Given the description of an element on the screen output the (x, y) to click on. 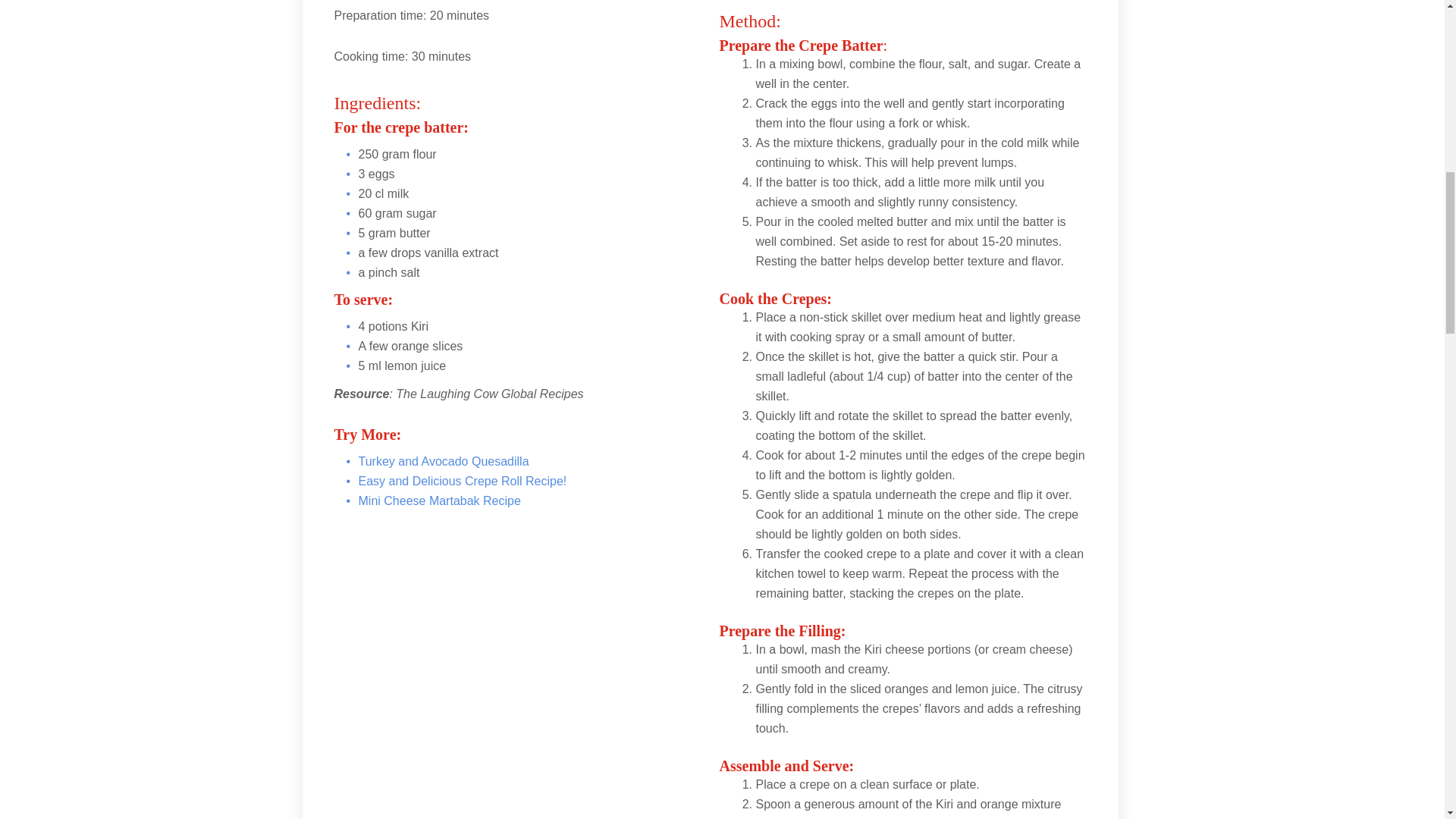
Mini Cheese Martabak Recipe (438, 500)
Turkey and Avocado Quesadilla (443, 461)
Easy and Delicious Crepe Roll Recipe! (462, 481)
